Given the description of an element on the screen output the (x, y) to click on. 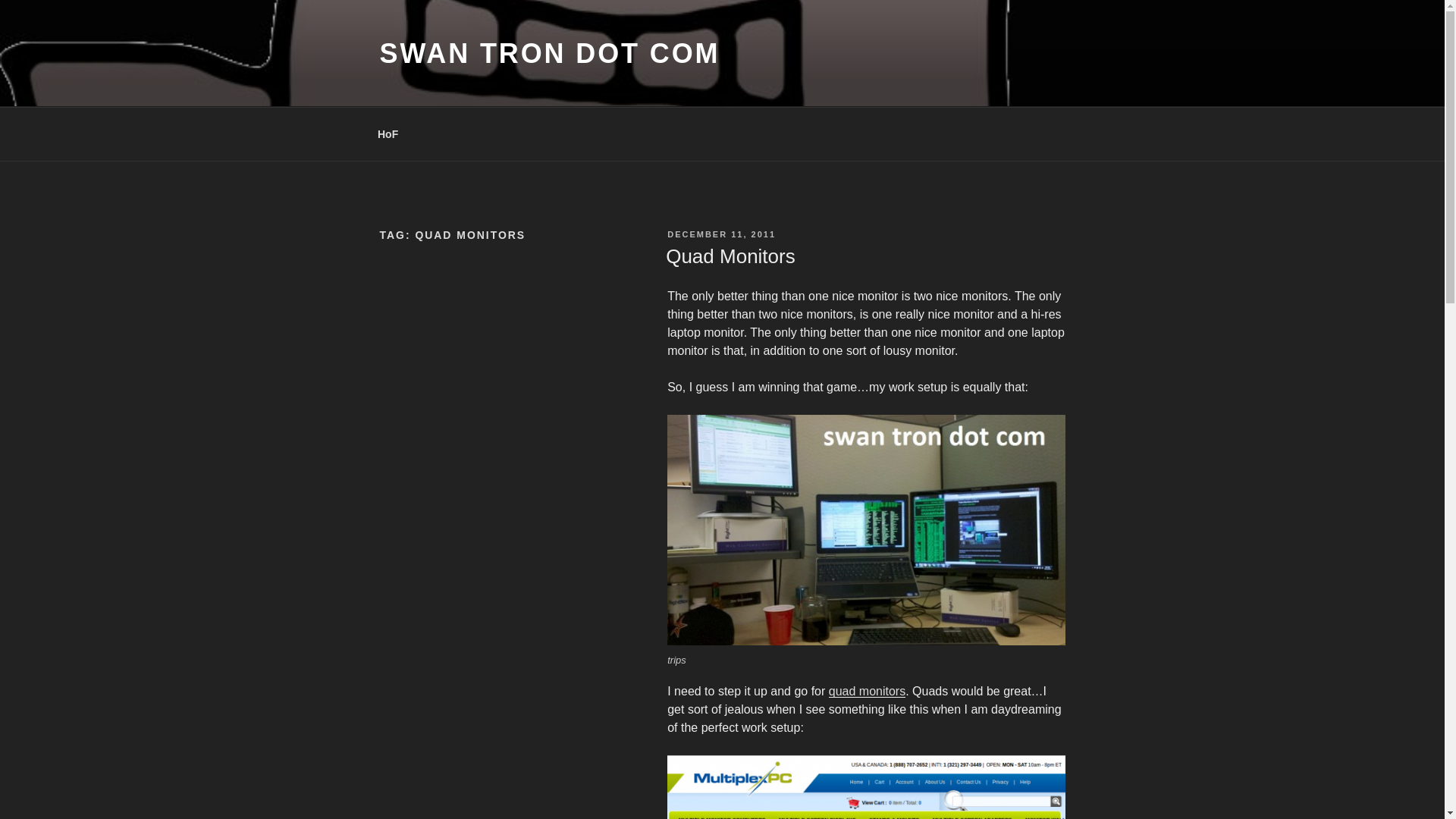
quad monitors (866, 690)
Quad Monitors (729, 255)
DECEMBER 11, 2011 (721, 234)
SWAN TRON DOT COM (548, 52)
HoF (387, 133)
mulitplex (865, 787)
